Given the description of an element on the screen output the (x, y) to click on. 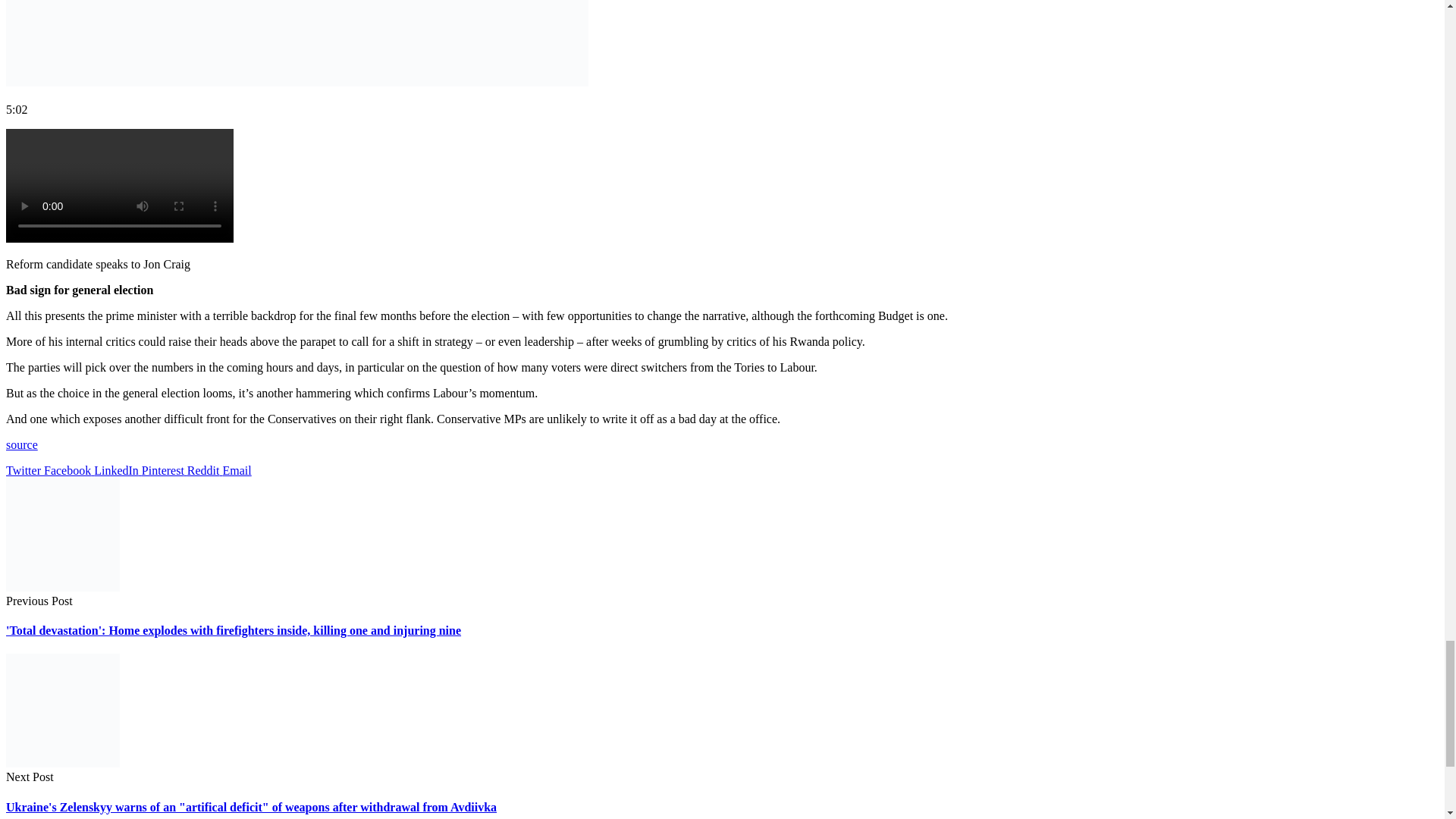
Reddit (204, 470)
Pinterest (164, 470)
Tweet This! (24, 470)
Twitter (24, 470)
Share on Email (236, 470)
LinkedIn (117, 470)
Share on Reddit (204, 470)
Pin this! (164, 470)
Facebook (68, 470)
Share on Facebook (68, 470)
source (21, 444)
Email (236, 470)
Share on LinkedIn (117, 470)
